Given the description of an element on the screen output the (x, y) to click on. 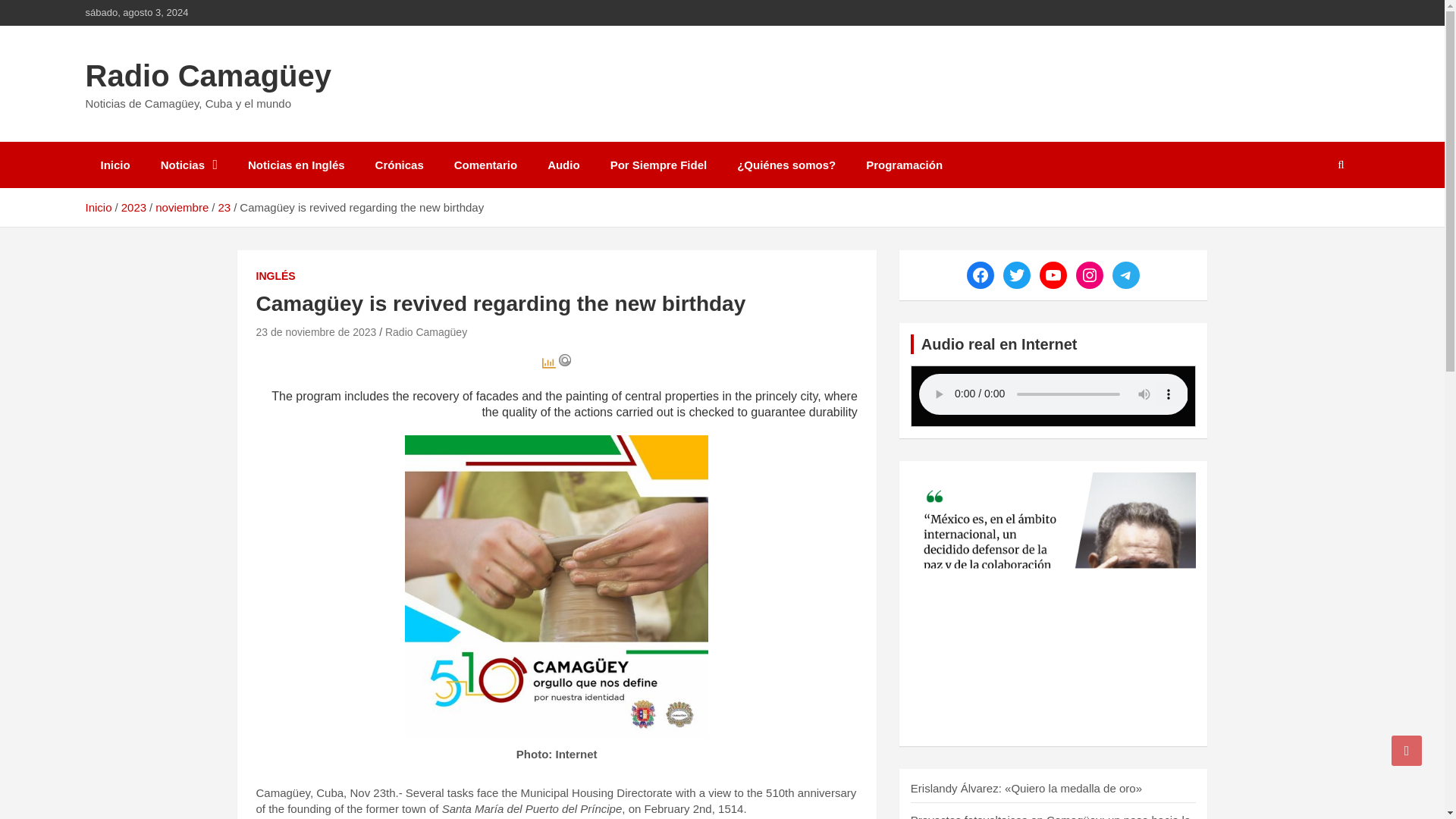
Inicio (114, 164)
YouTube (1053, 275)
Inicio (98, 206)
23 de noviembre de 2023 (316, 331)
Ir arriba (1406, 750)
Noticias (188, 164)
23 (223, 206)
Audio (563, 164)
Comentario (485, 164)
Por Siempre Fidel (658, 164)
noviembre (181, 206)
2023 (133, 206)
Twitter (1016, 275)
Facebook (980, 275)
